Given the description of an element on the screen output the (x, y) to click on. 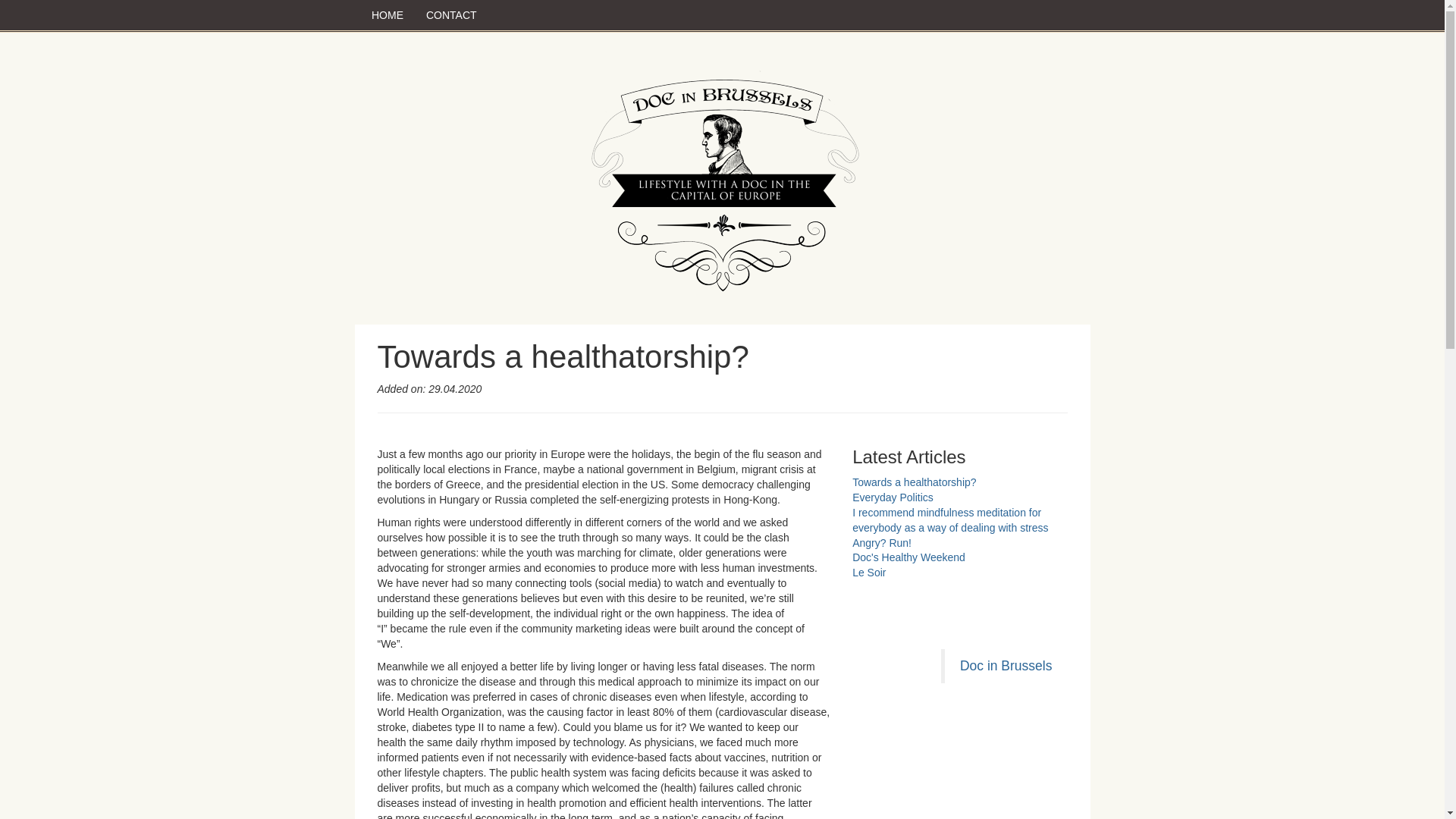
Doc's Healthy Weekend (908, 557)
Angry? Run! (881, 542)
Read the article: Everyday Politics (892, 497)
Read the article: Angry? Run! (881, 542)
CONTACT (450, 15)
Everyday Politics (892, 497)
Le Soir (868, 572)
Towards a healthatorship? (913, 481)
Read the article: Towards a healthatorship? (913, 481)
HOME (386, 15)
Doc in Brussels (1005, 665)
Read the article: Le Soir (868, 572)
Read the article: Doc's Healthy Weekend (908, 557)
